Given the description of an element on the screen output the (x, y) to click on. 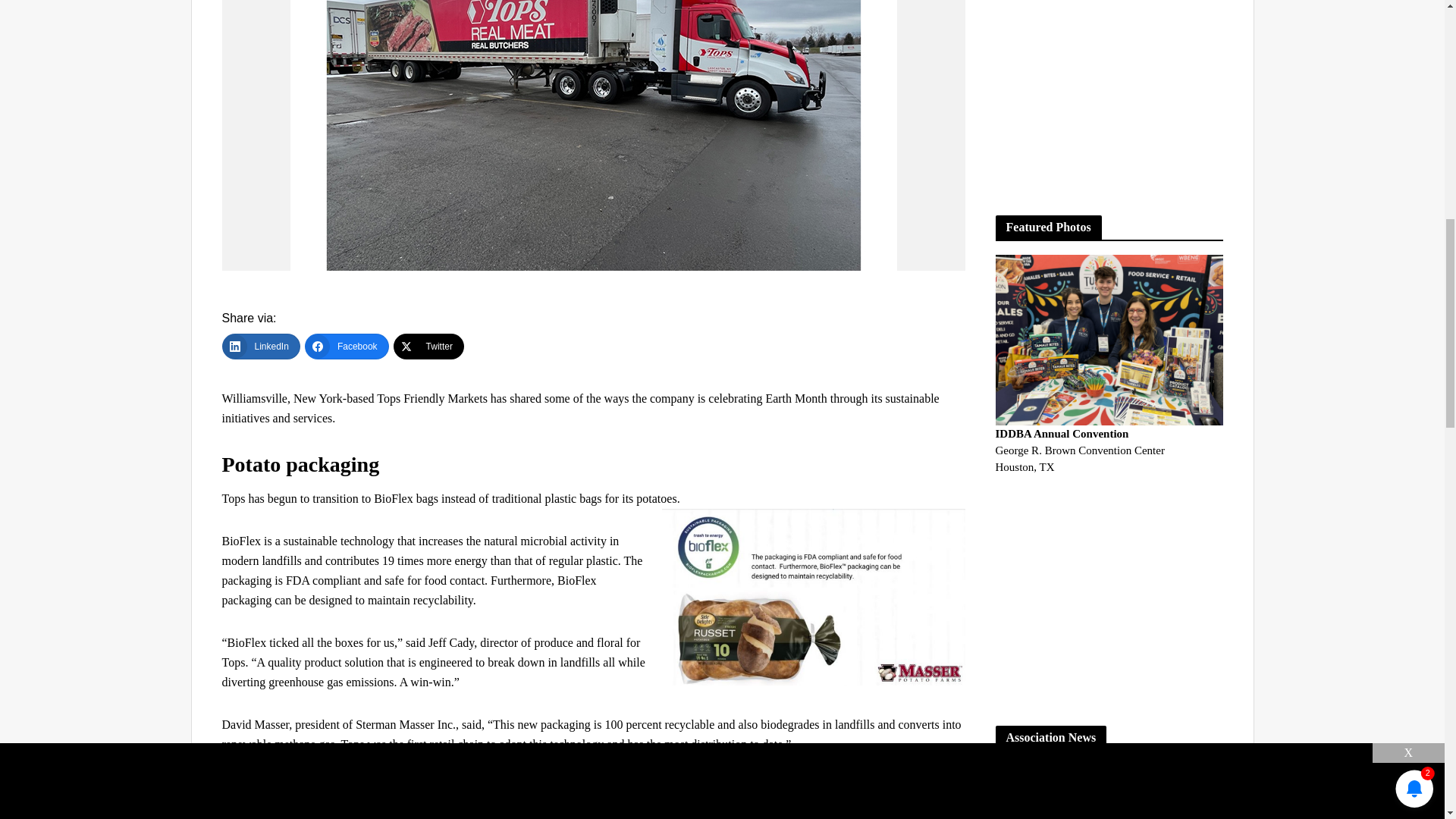
3rd party ad content (1108, 92)
3rd party ad content (1108, 600)
